Given the description of an element on the screen output the (x, y) to click on. 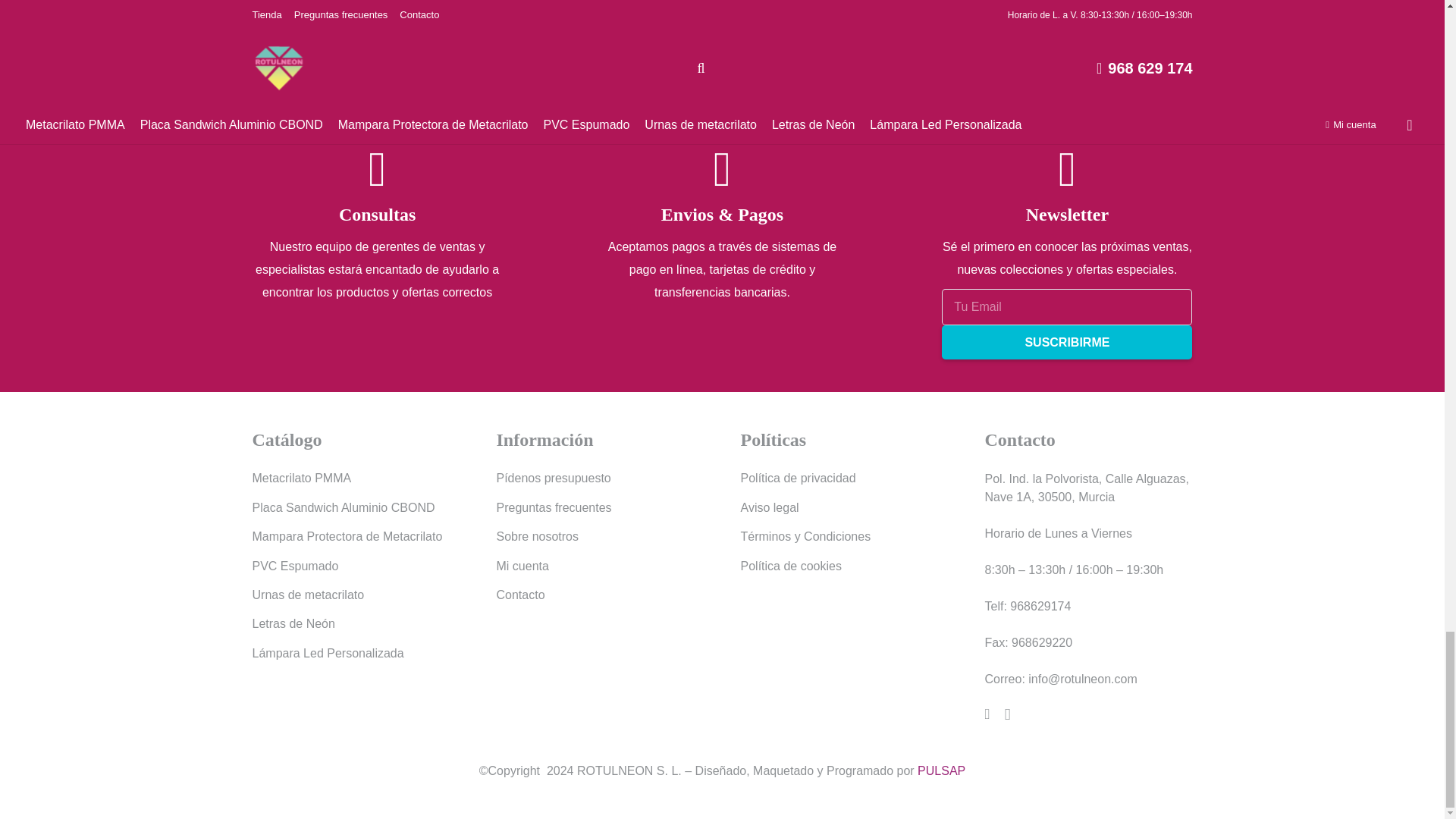
Metacrilato PMMA (300, 477)
Preguntas frecuentes (553, 507)
PVC Espumado (294, 565)
Telf: 968629174 (1027, 605)
Urnas de metacrilato (307, 594)
Facebook (987, 713)
SUSCRIBIRME (1067, 342)
Mampara Protectora de Metacrilato (346, 535)
Contacto (520, 594)
Sobre nosotros (537, 535)
Aviso legal (768, 507)
Mi cuenta (522, 565)
Placa Sandwich Aluminio CBOND (342, 507)
Instagram (1007, 714)
